Given the description of an element on the screen output the (x, y) to click on. 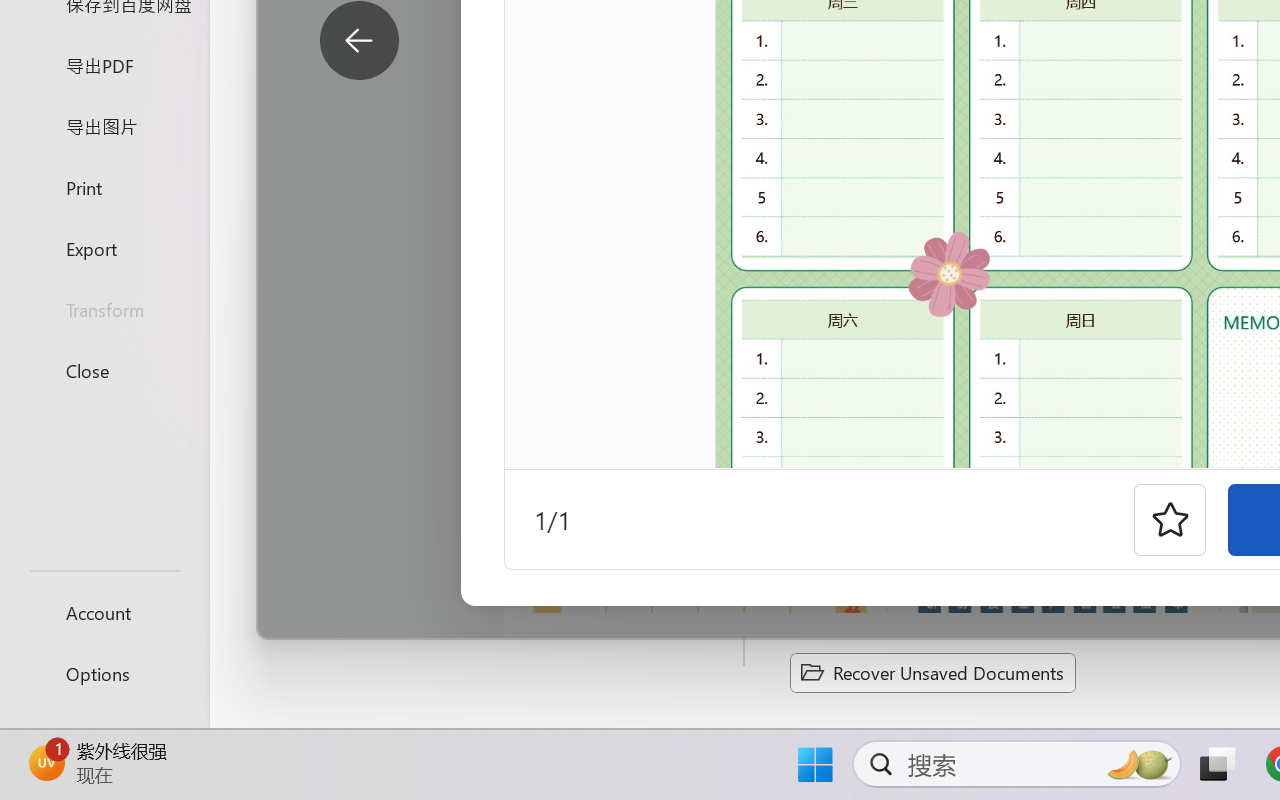
Recover Unsaved Documents (932, 672)
Options (104, 673)
Export (104, 248)
Transform (104, 309)
Account (104, 612)
Print (104, 186)
